Given the description of an element on the screen output the (x, y) to click on. 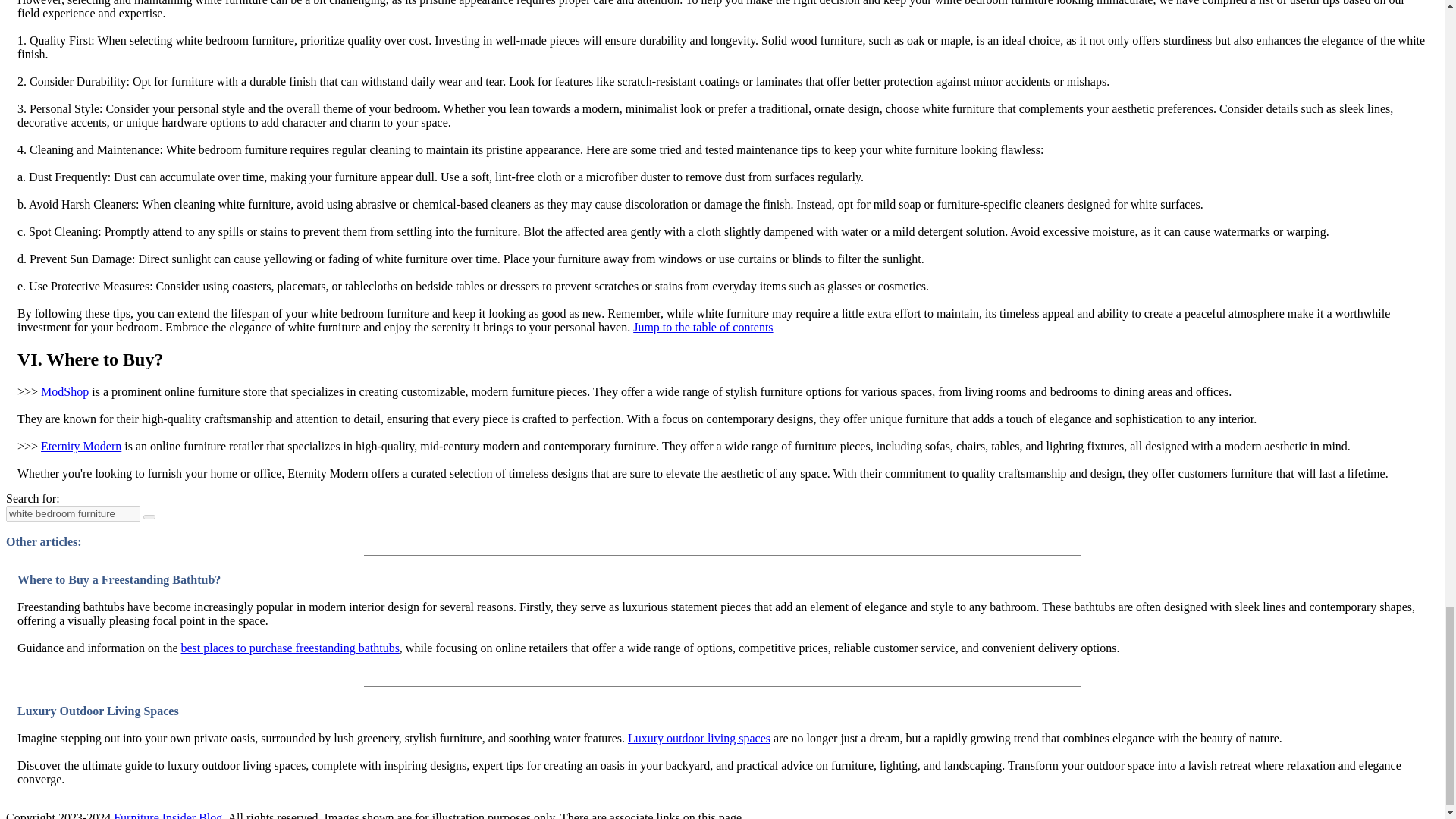
ModShop (64, 391)
white bedroom furniture (72, 513)
Luxury outdoor living spaces (698, 738)
Jump to the table of contents (703, 327)
Eternity Modern (80, 445)
best places to purchase freestanding bathtubs (289, 647)
Tap or click here to search for white bedroom furniture (148, 517)
